Given the description of an element on the screen output the (x, y) to click on. 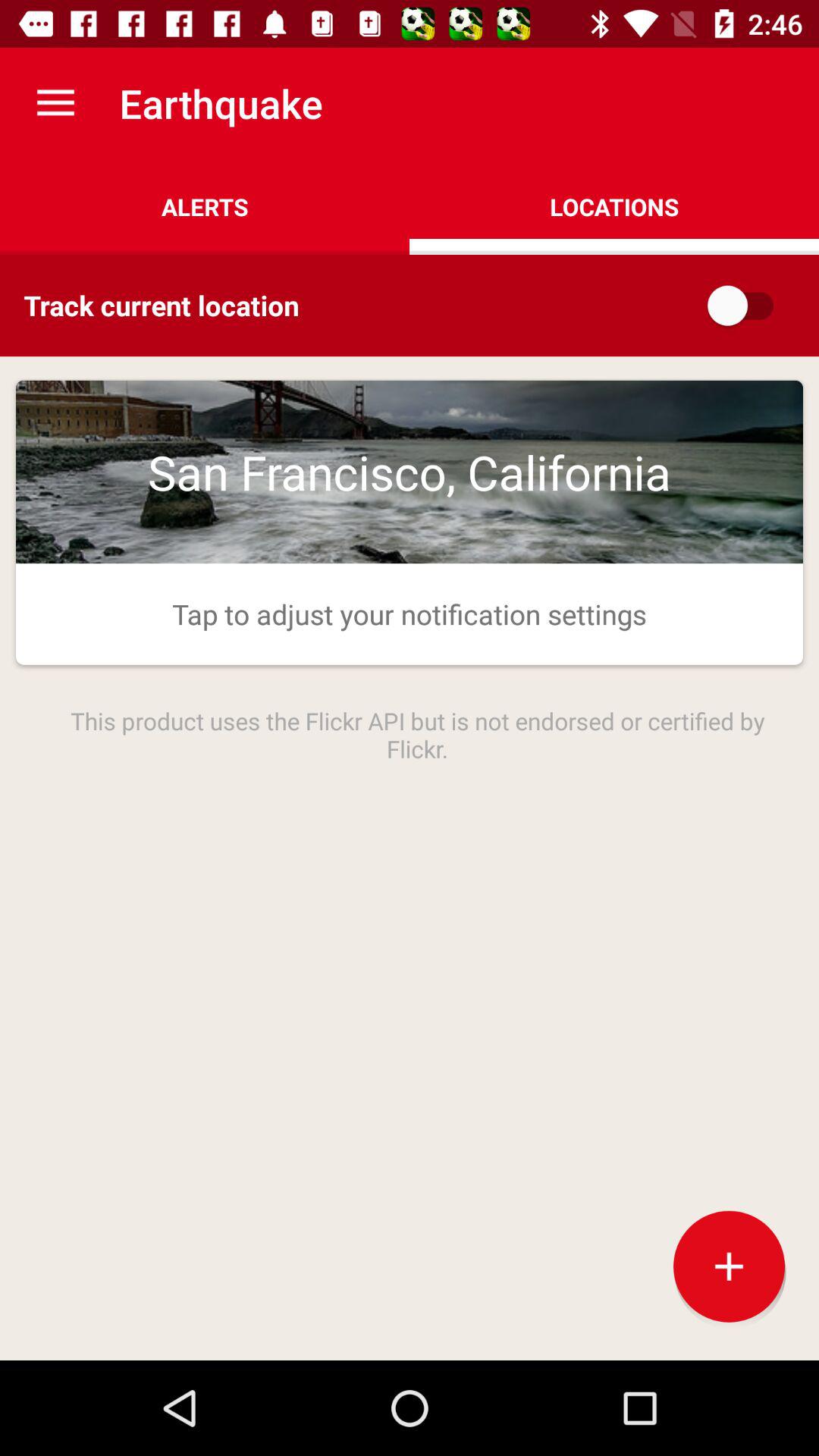
press locations icon (614, 206)
